Given the description of an element on the screen output the (x, y) to click on. 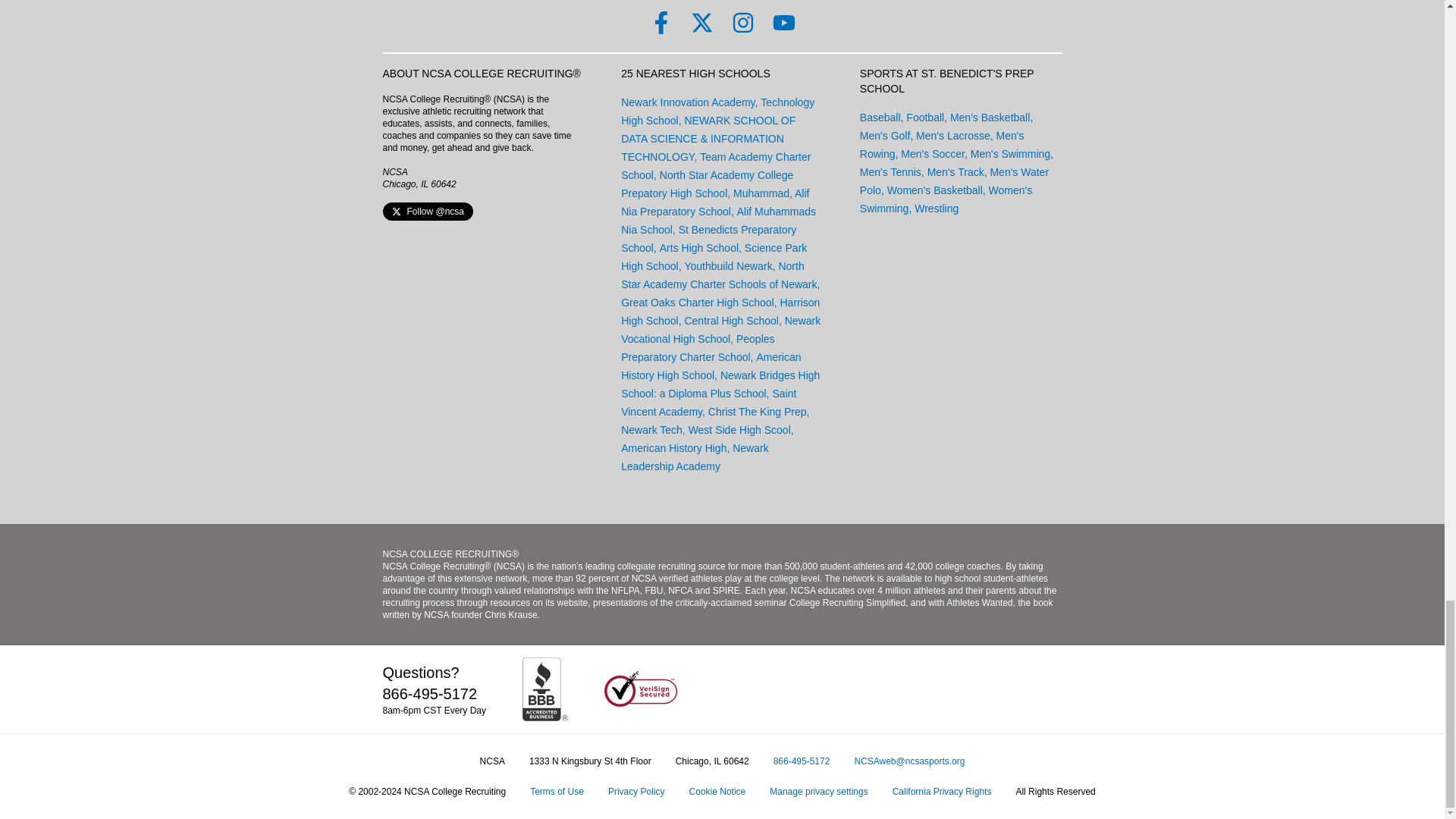
Follow us on YouTube. (782, 22)
Follow us on Facebook. (660, 22)
Follow us on X. (701, 22)
Technology High School (717, 111)
Team Academy Charter School (715, 165)
Newark Innovation Academy (687, 102)
Follow us on Instagram. (742, 22)
